Given the description of an element on the screen output the (x, y) to click on. 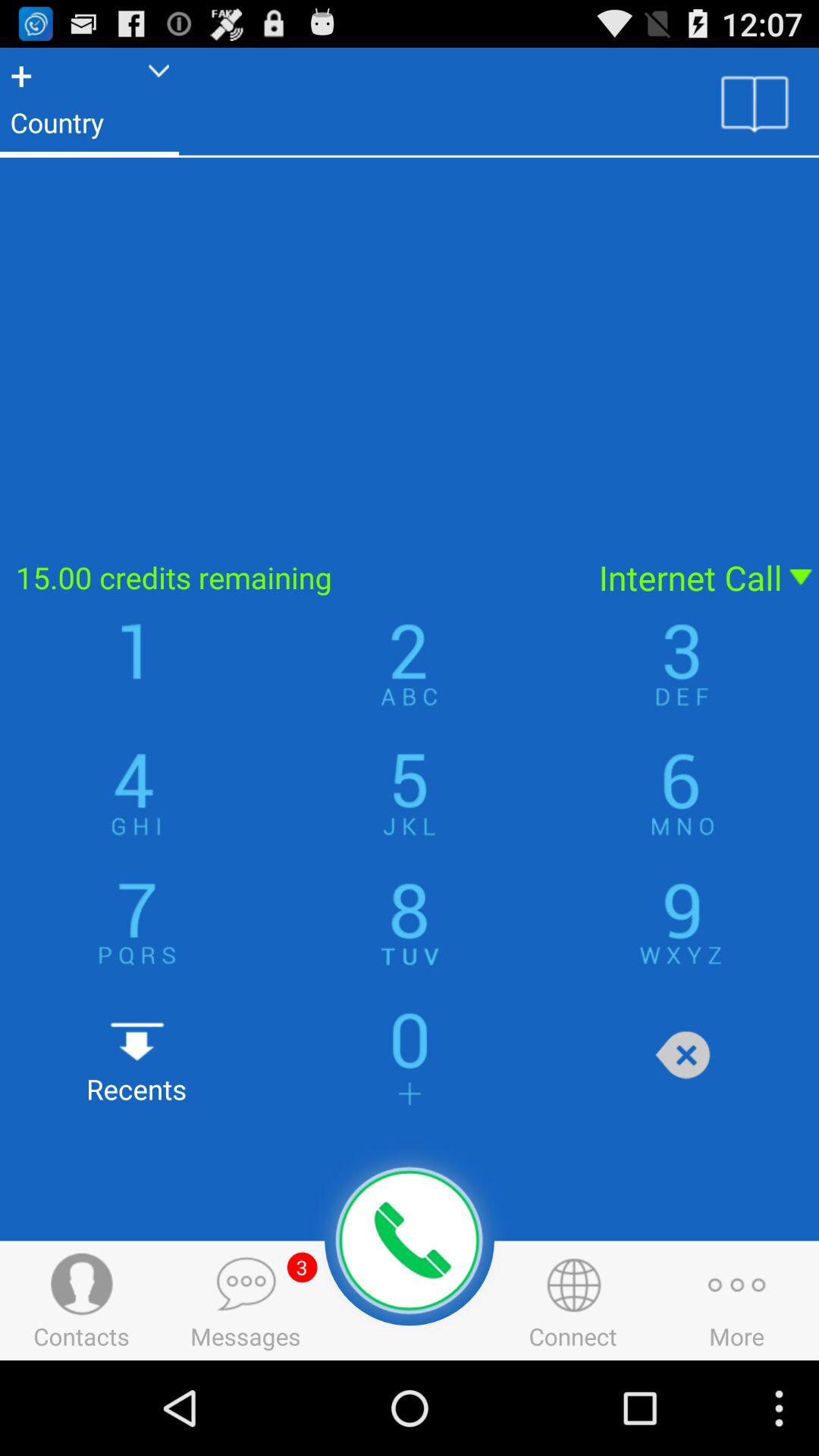
view contacts (755, 102)
